Given the description of an element on the screen output the (x, y) to click on. 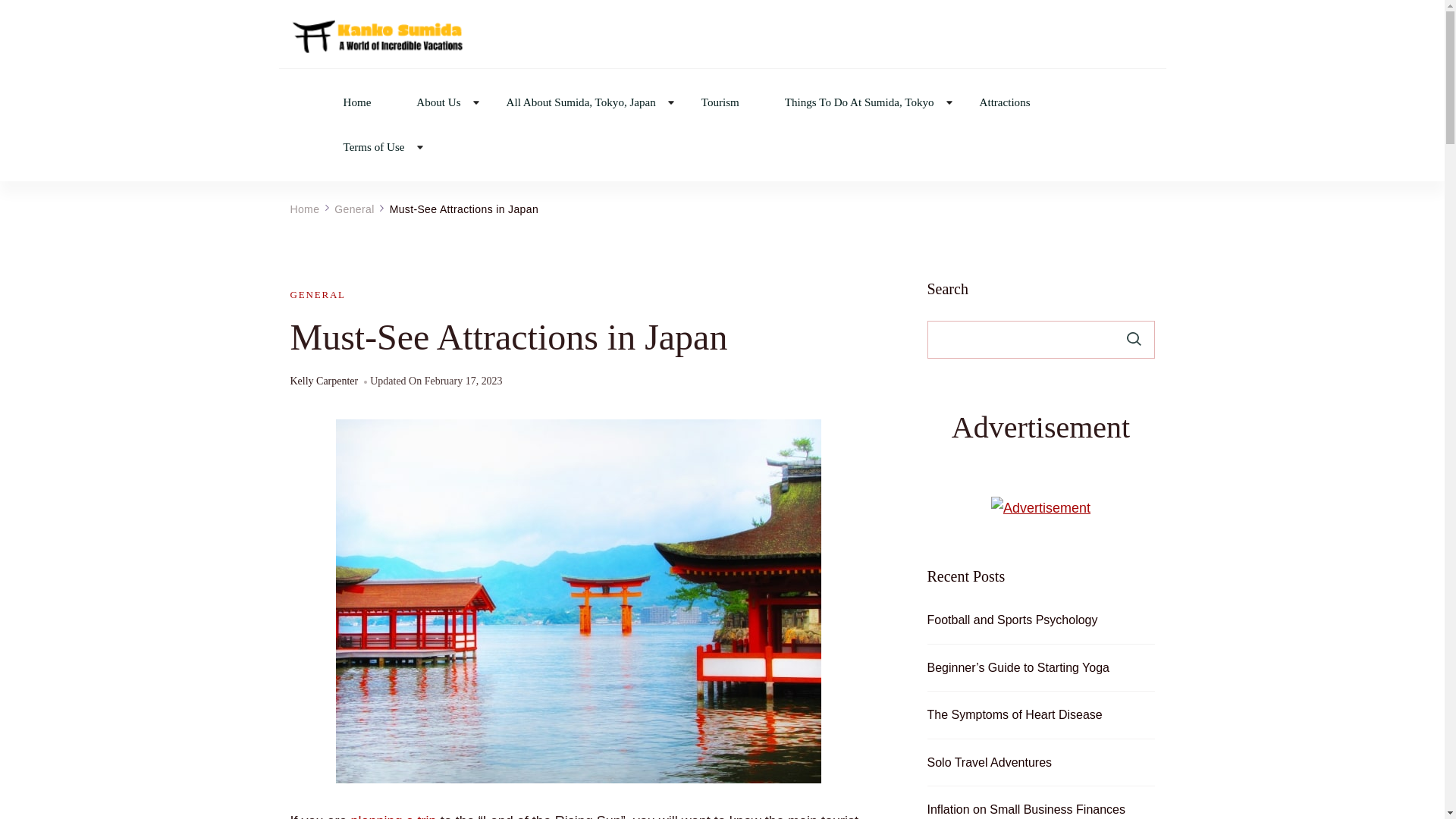
General (354, 209)
Home (356, 102)
Tourism (720, 102)
Must-See Attractions in Japan (464, 209)
planning a trip (393, 816)
February 17, 2023 (463, 380)
Home (303, 209)
Attractions (1004, 102)
Kelly Carpenter (323, 381)
Terms of Use (373, 147)
About Us (438, 102)
Things To Do At Sumida, Tokyo (859, 102)
All About Sumida, Tokyo, Japan (581, 102)
GENERAL (317, 294)
